Given the description of an element on the screen output the (x, y) to click on. 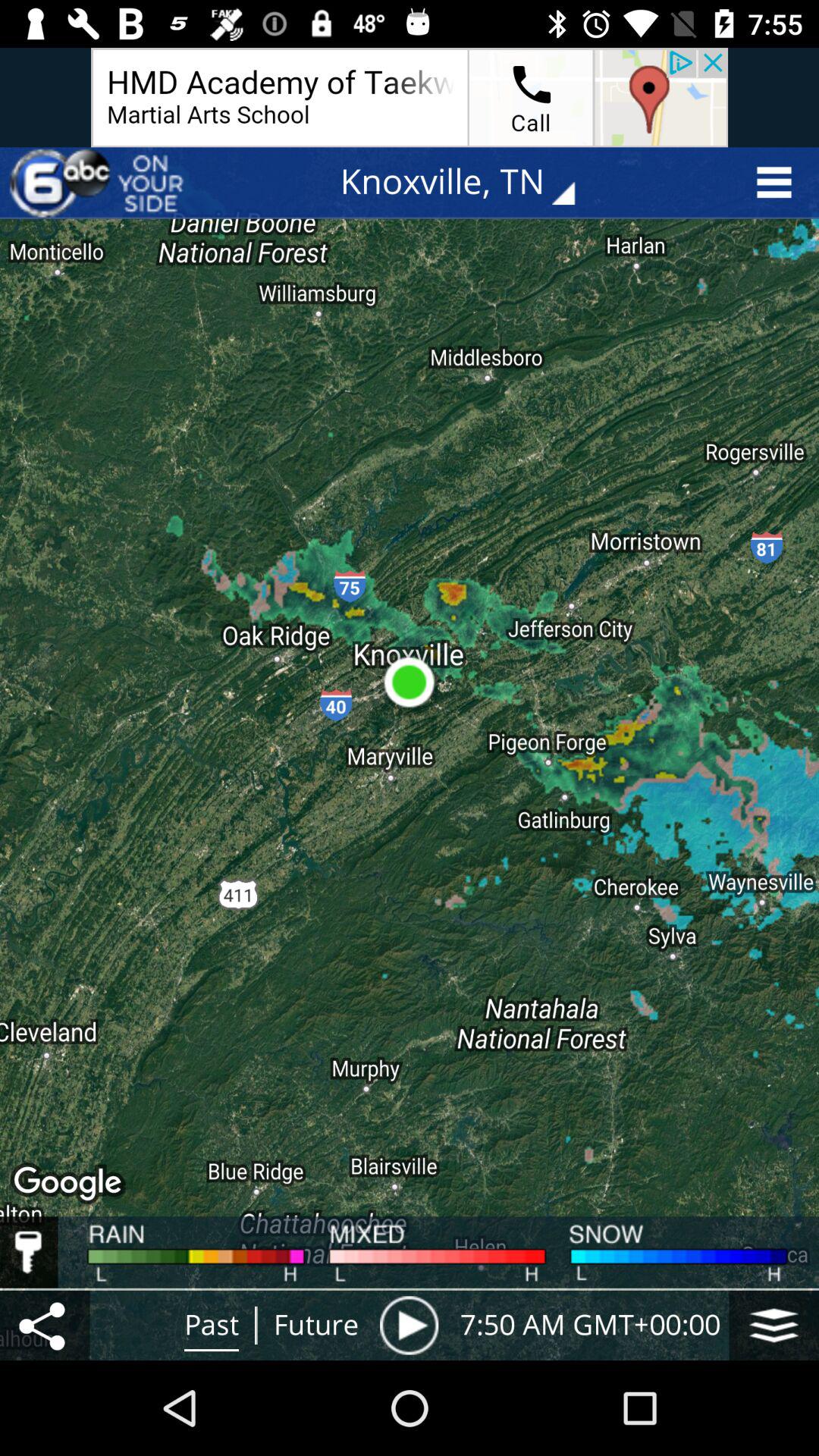
launch the icon next to the 7 50 am (774, 1325)
